Given the description of an element on the screen output the (x, y) to click on. 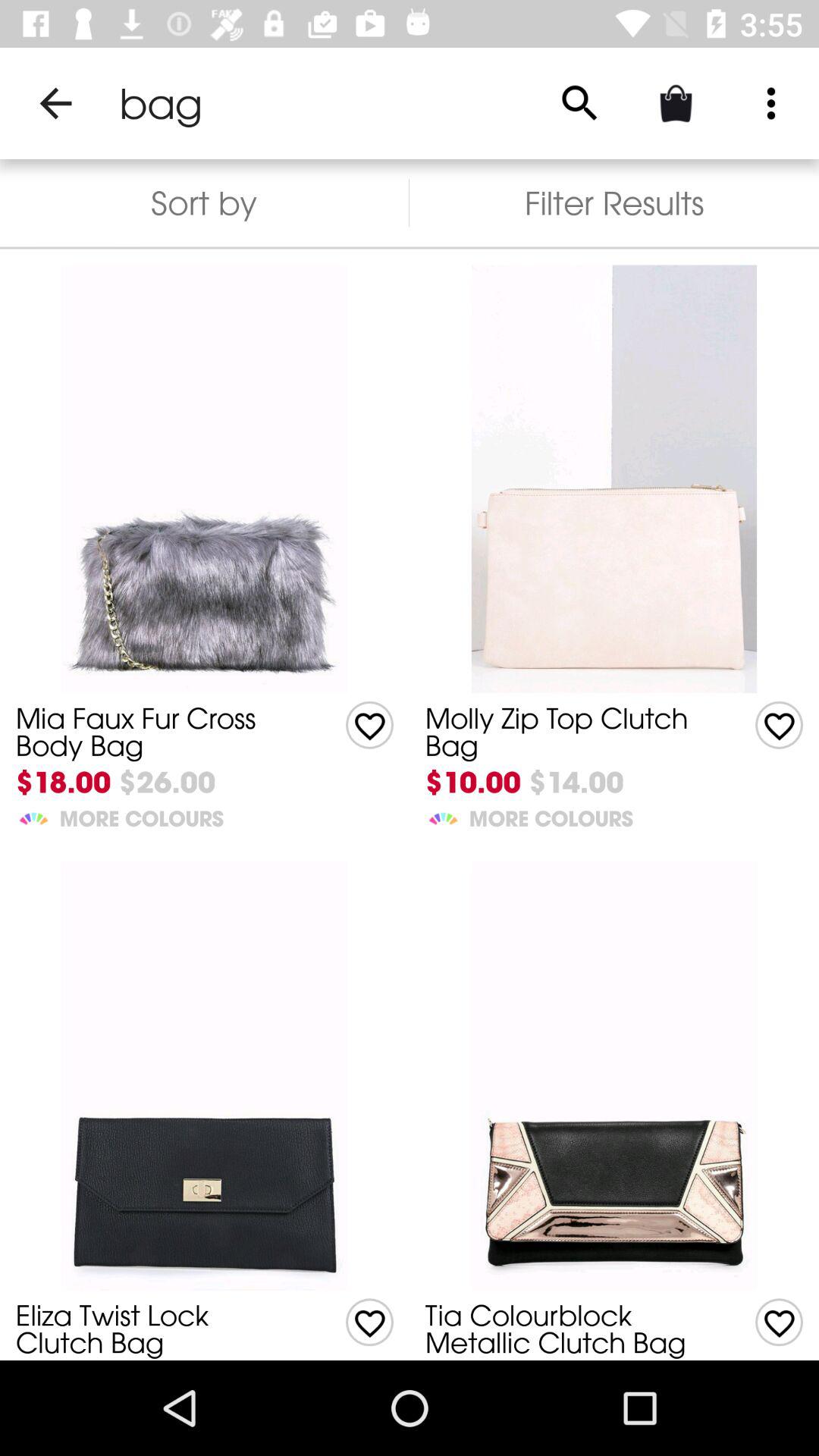
turn off eliza twist lock (157, 1328)
